Given the description of an element on the screen output the (x, y) to click on. 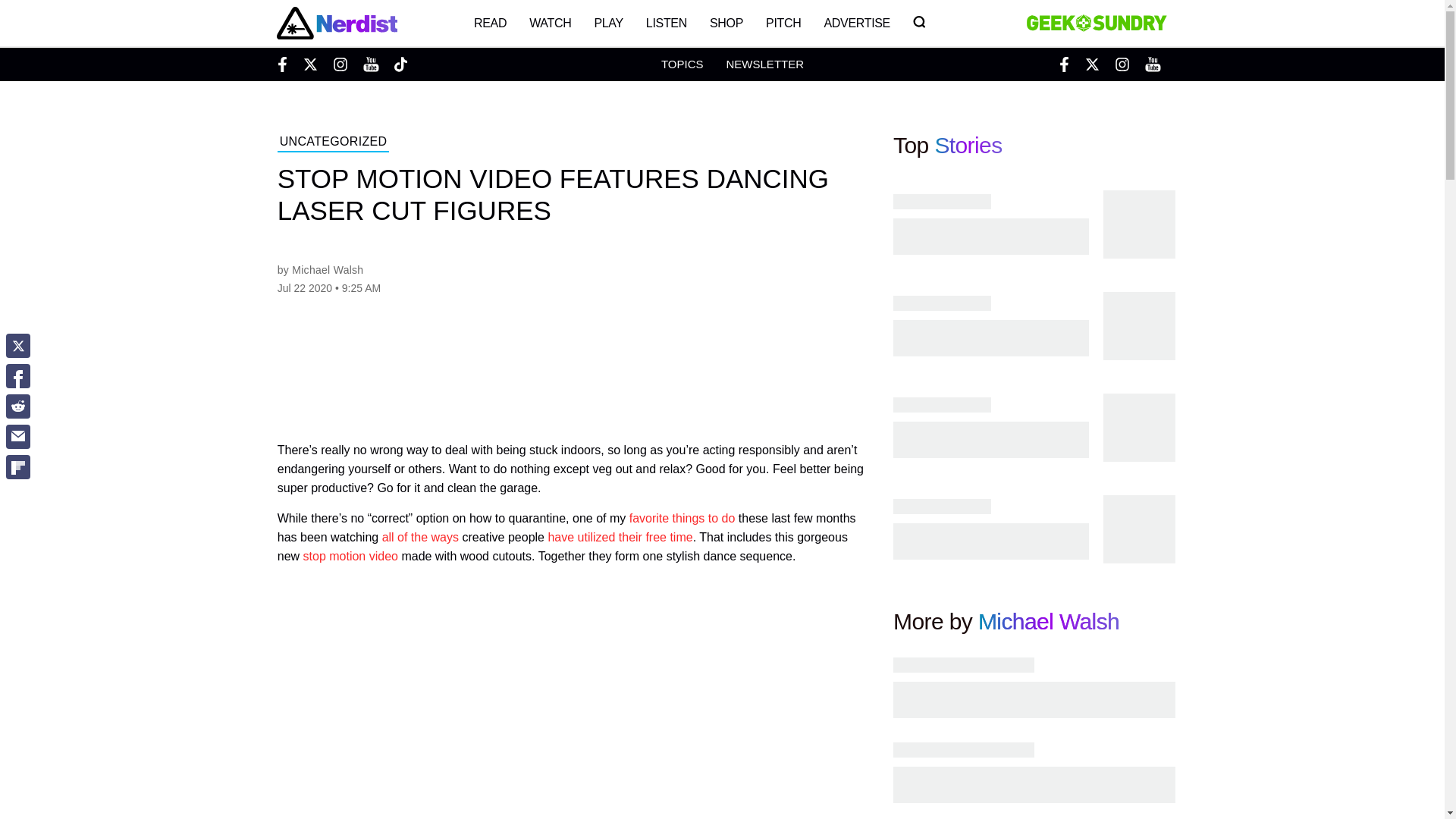
Michael Walsh (327, 269)
UNCATEGORIZED (334, 143)
Michael Walsh (1048, 621)
WATCH (550, 22)
Twitter Nerdist (309, 63)
have utilized their free time (620, 536)
Instagram Nerdist (339, 63)
ADVERTISE (856, 22)
WATCH (550, 22)
stop motion video (349, 555)
PITCH (783, 22)
NEWSLETTER (764, 63)
Topics (681, 63)
PITCH (783, 22)
TOPICS (681, 63)
